Given the description of an element on the screen output the (x, y) to click on. 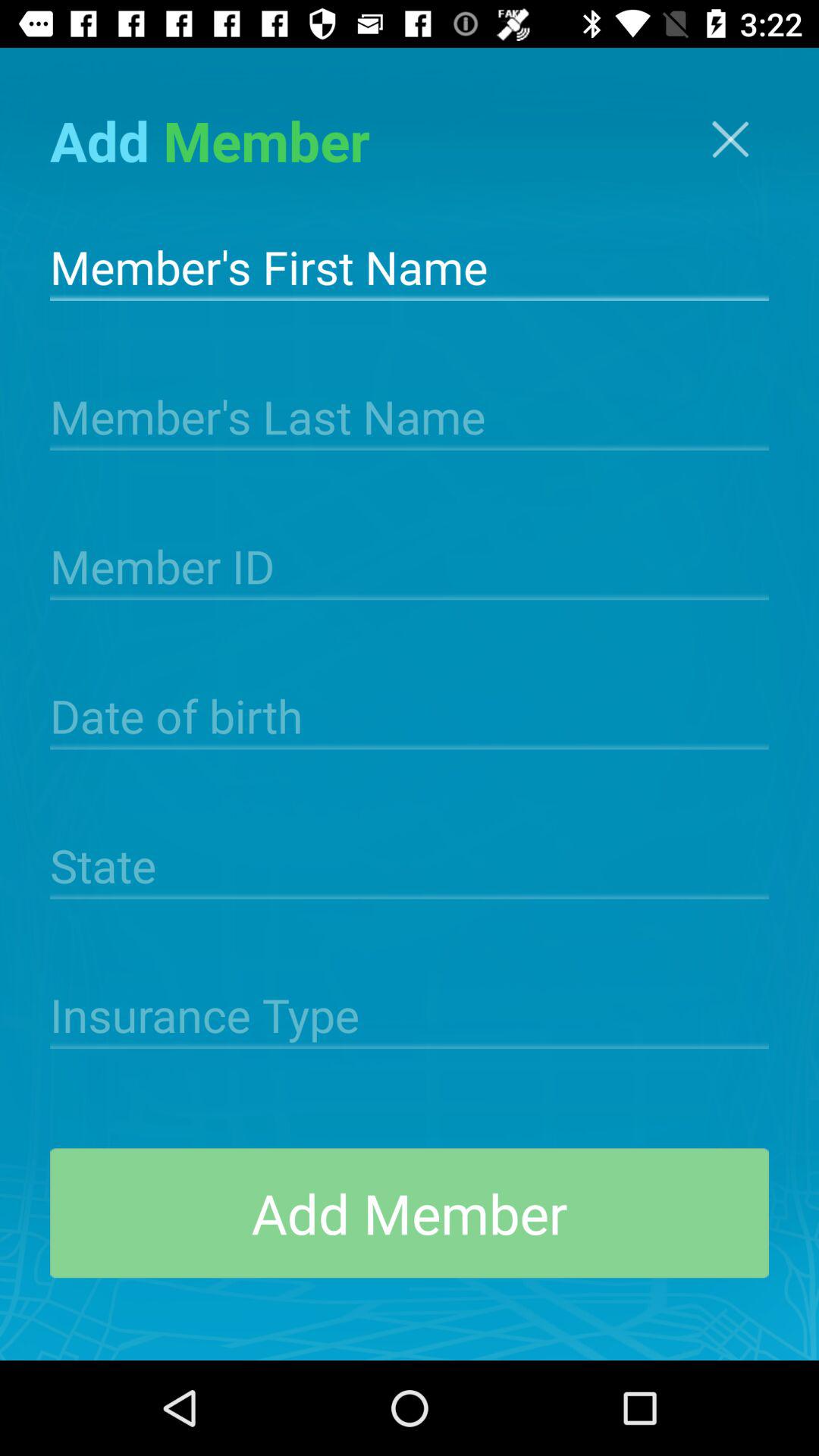
date of birth field (409, 714)
